Given the description of an element on the screen output the (x, y) to click on. 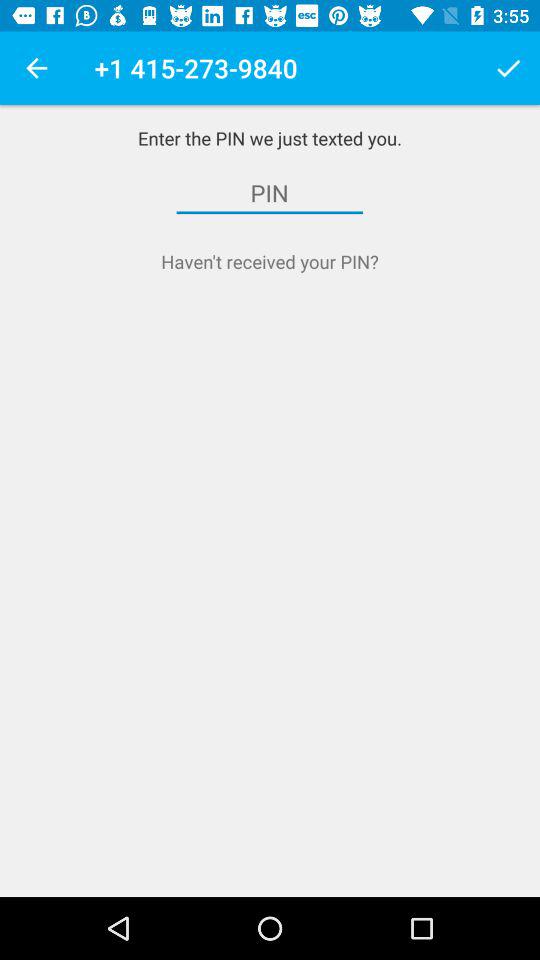
turn off the item to the right of the 1 415 273 icon (508, 67)
